Given the description of an element on the screen output the (x, y) to click on. 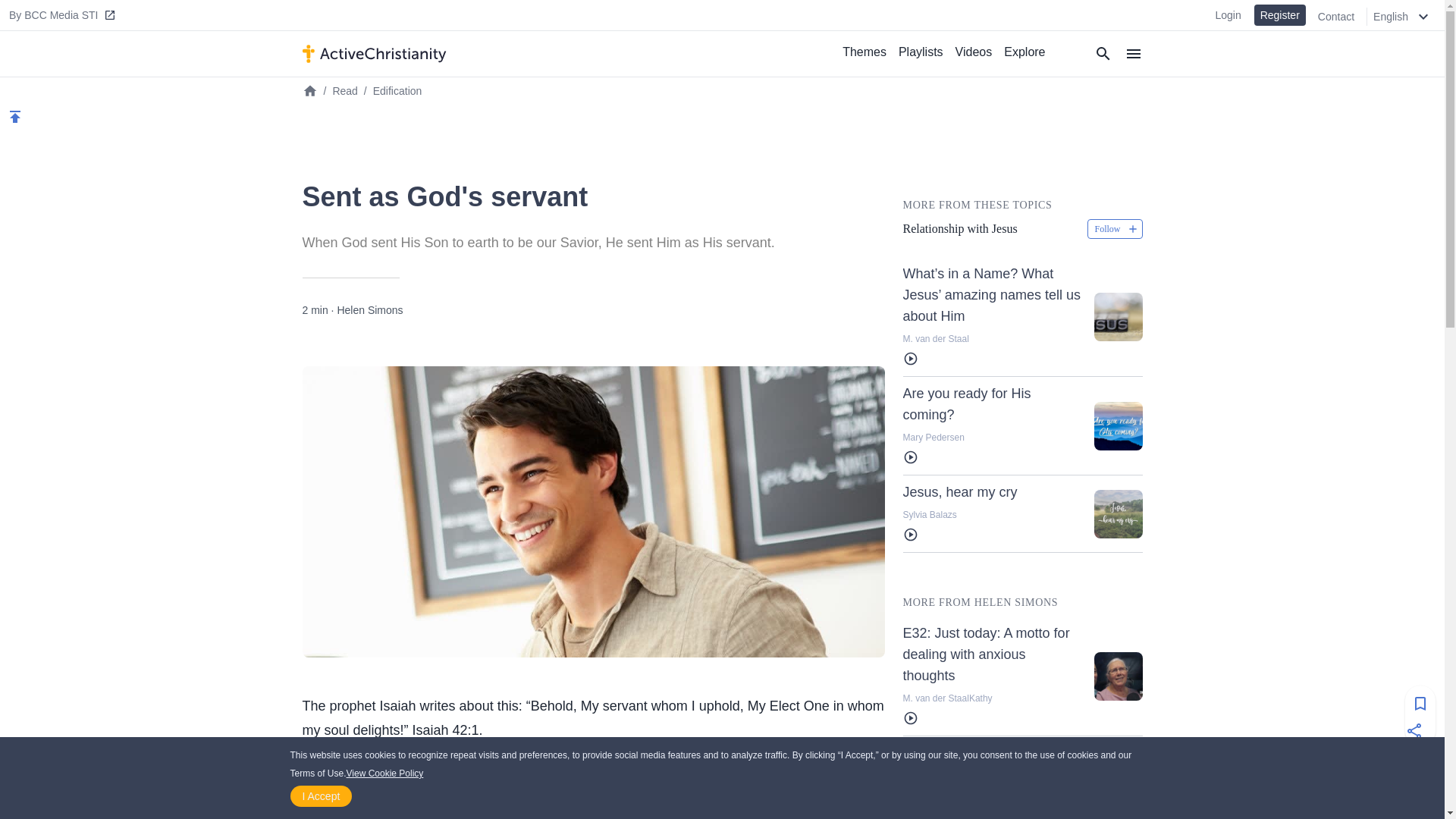
Explore (1024, 51)
Videos (973, 51)
English (1405, 16)
Read (343, 90)
Contact (1342, 16)
Edification (397, 90)
Themes (863, 51)
I Accept (320, 795)
Playlists (920, 51)
By BCC Media STI (63, 14)
